Given the description of an element on the screen output the (x, y) to click on. 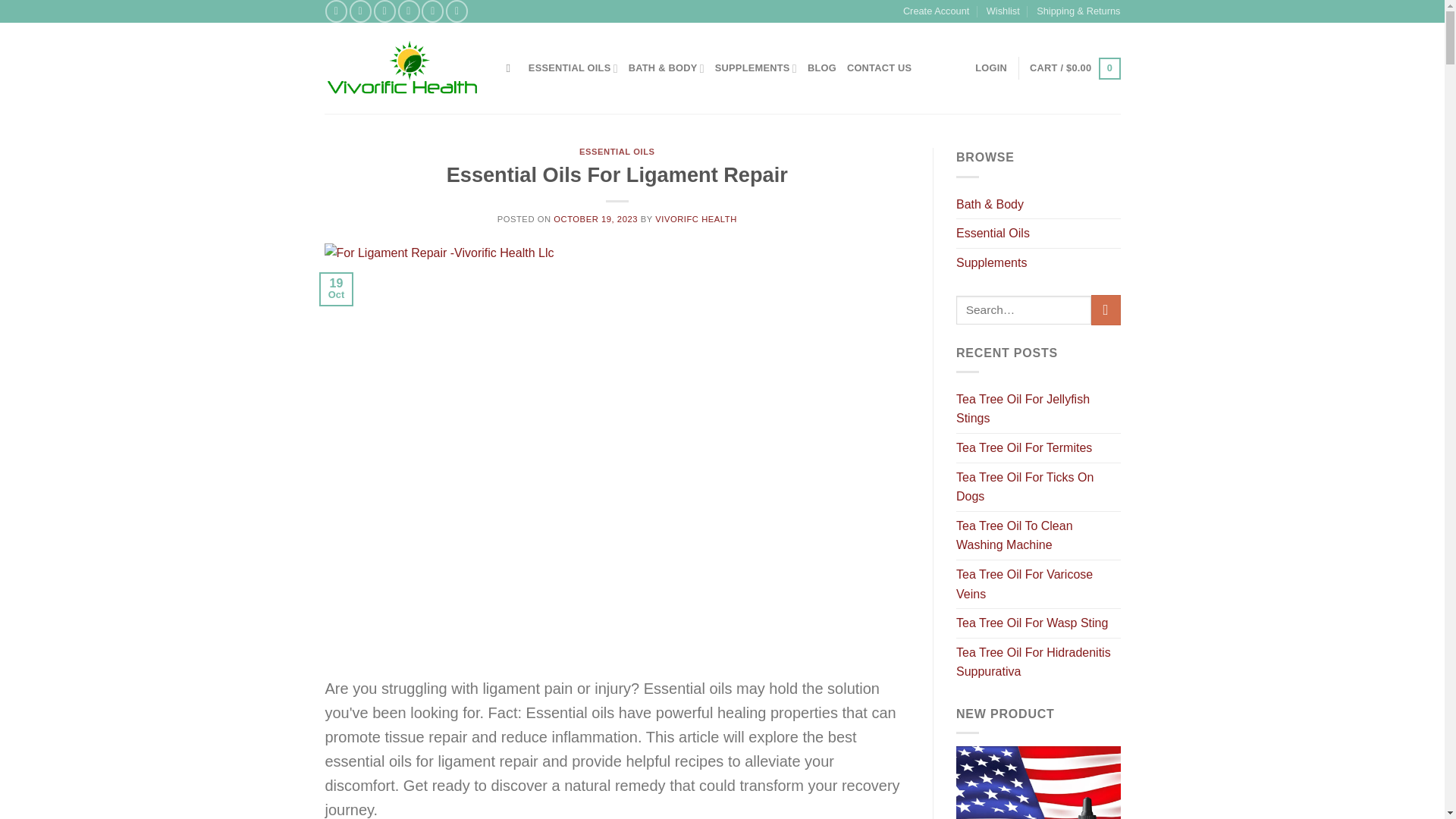
Wishlist (1003, 11)
Cart (1074, 68)
Follow on Instagram (360, 11)
ESSENTIAL OILS (572, 68)
Follow on Pinterest (456, 11)
Follow on Twitter (385, 11)
Create Account (935, 11)
Send us an email (408, 11)
Call us (433, 11)
Vivorific Health - So Natural, So Pure, So Good (403, 68)
Follow on Facebook (335, 11)
